Given the description of an element on the screen output the (x, y) to click on. 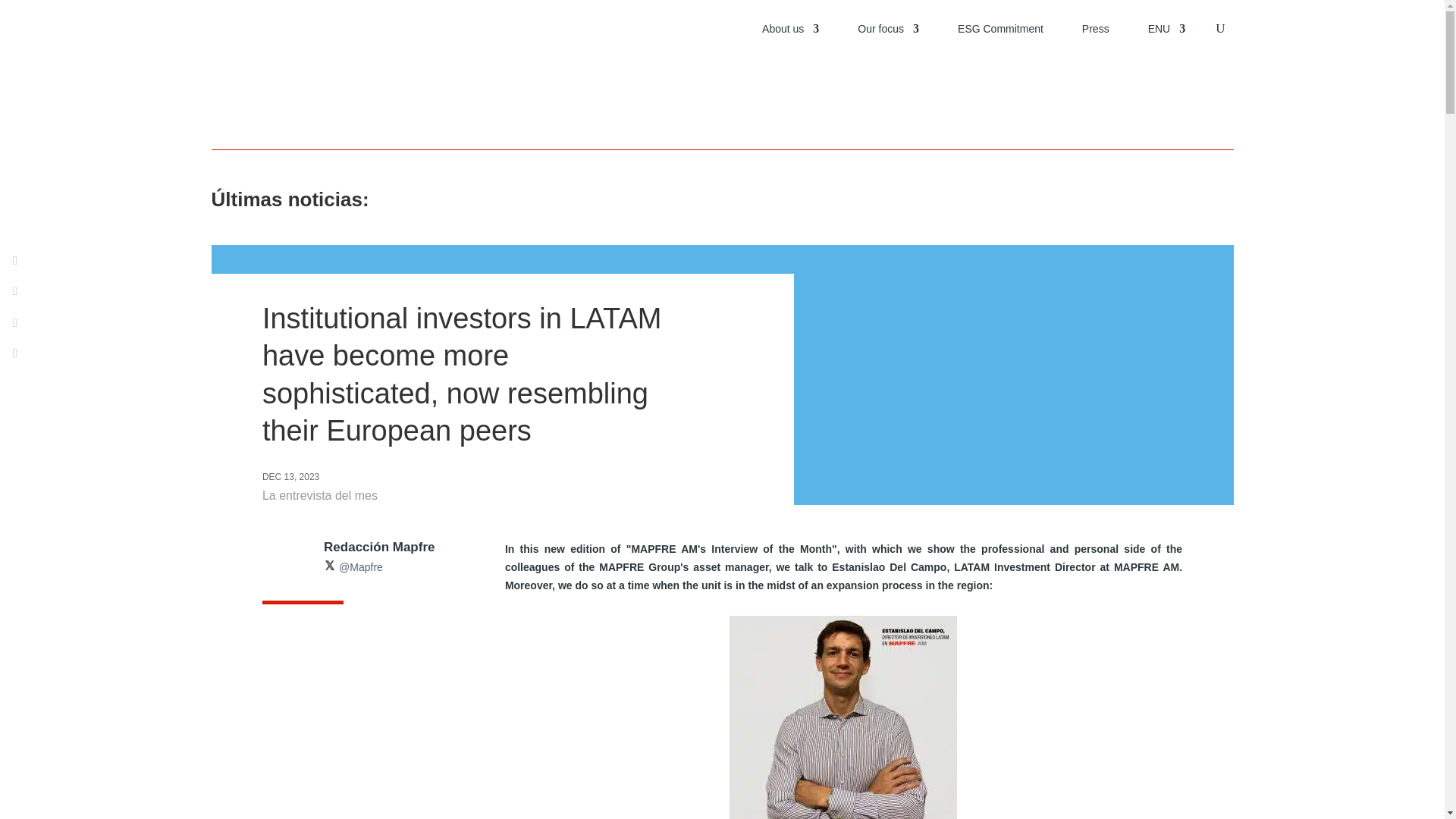
About us (789, 28)
ESG Commitment (1000, 28)
Our focus (887, 28)
La entrevista del mes (319, 495)
